Given the description of an element on the screen output the (x, y) to click on. 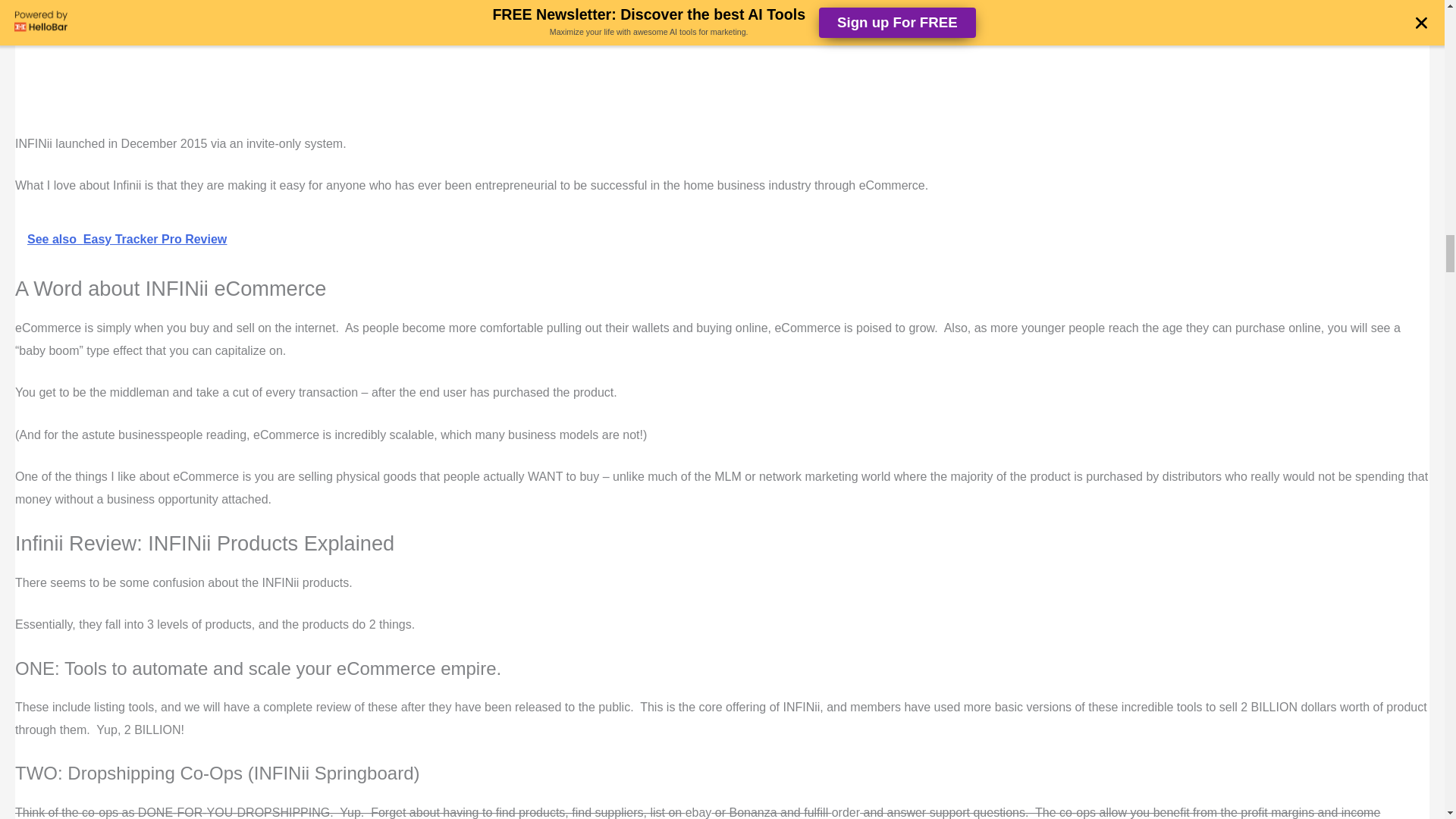
See also  Easy Tracker Pro Review (721, 239)
